Given the description of an element on the screen output the (x, y) to click on. 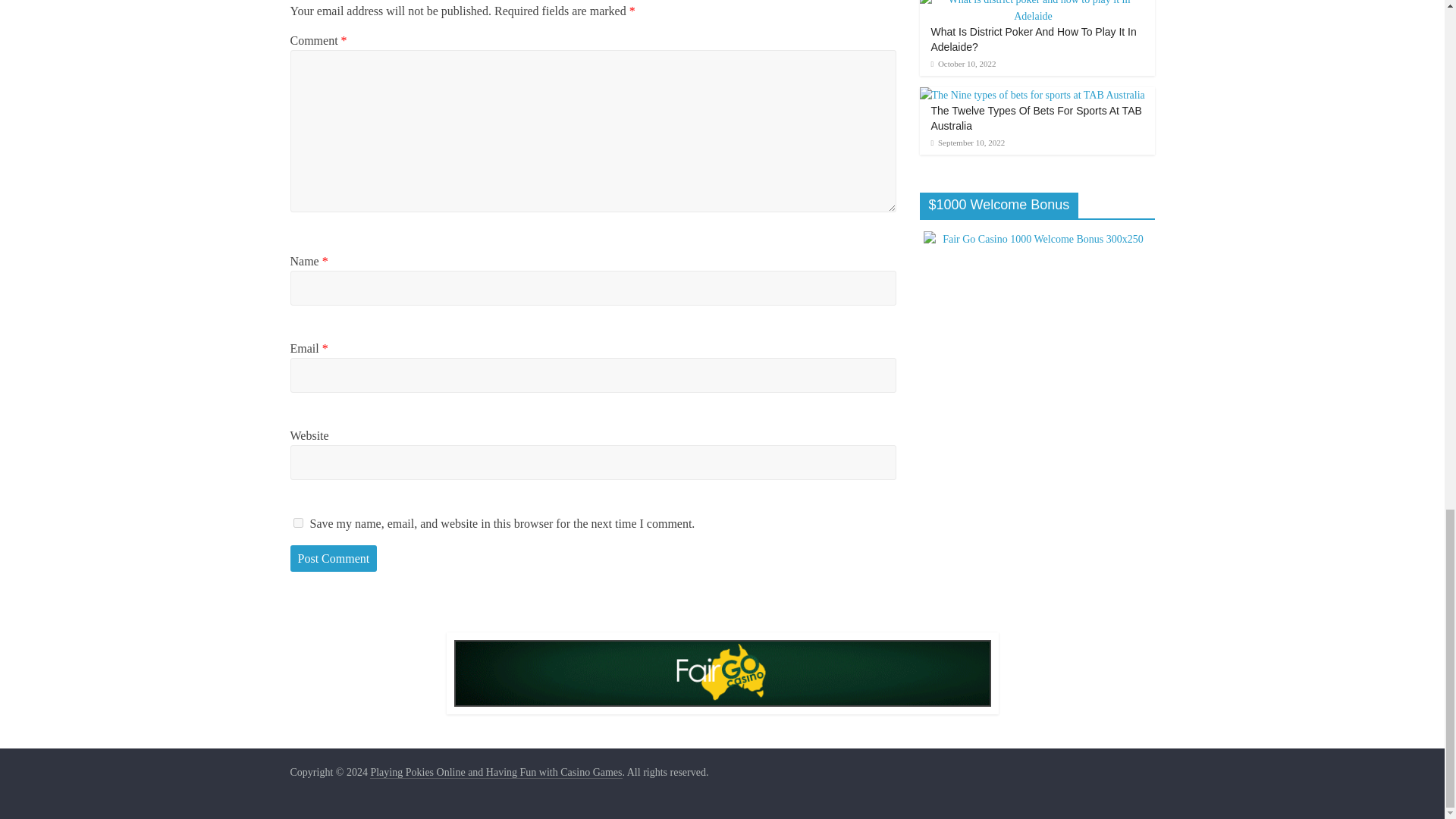
yes (297, 522)
Post Comment (333, 558)
Post Comment (333, 558)
